Given the description of an element on the screen output the (x, y) to click on. 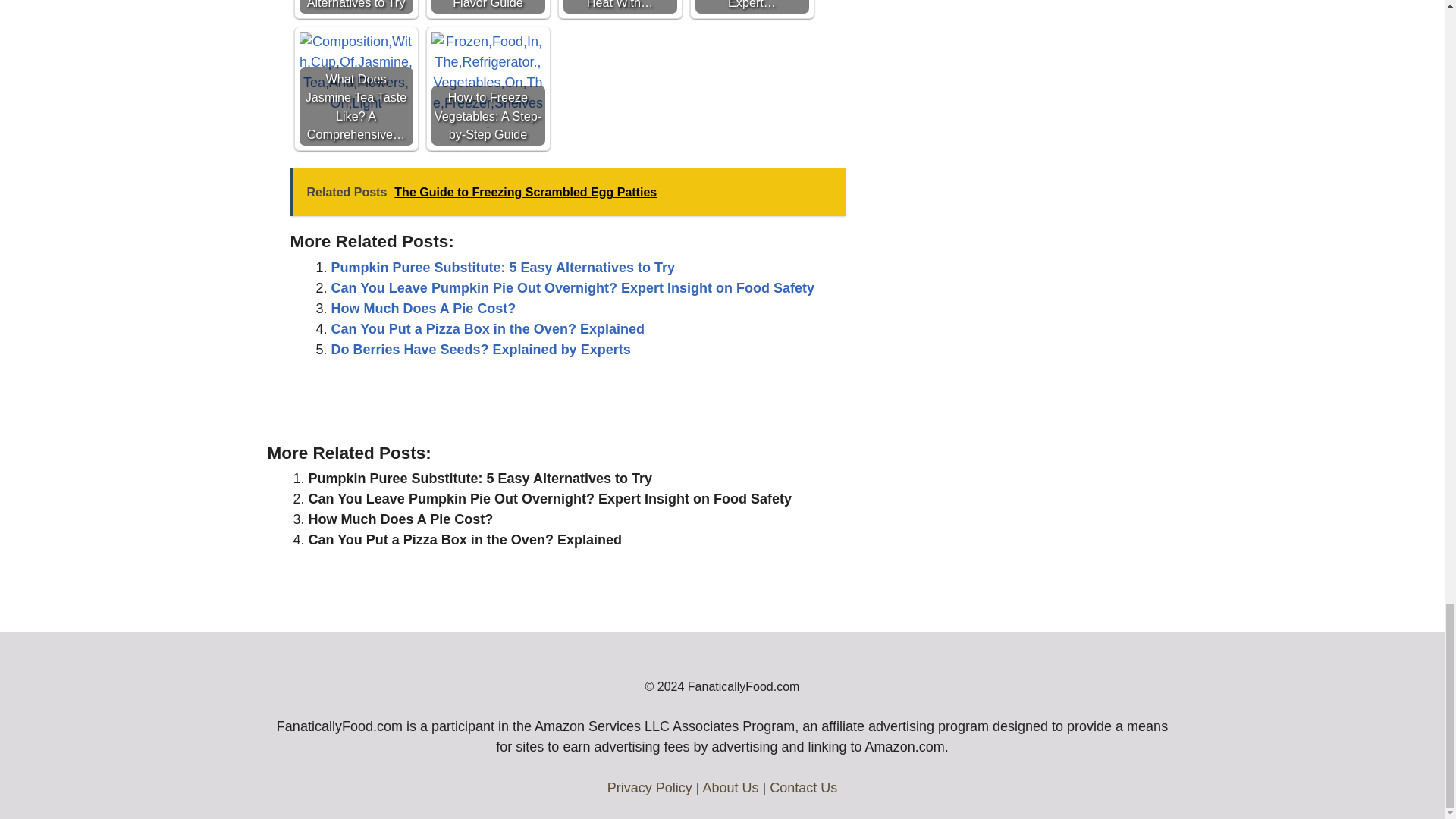
Related Posts  The Guide to Freezing Scrambled Egg Patties (566, 192)
Pumpkin Puree Substitute: 5 Easy Alternatives to Try (355, 6)
How Much Does A Pie Cost? (422, 308)
How Much Does A Pie Cost? (400, 519)
Privacy Policy (650, 787)
What Does Barracuda Taste Like: An Unbiased Flavor Guide (487, 6)
About Us (729, 787)
How Much Does A Pie Cost? (422, 308)
